Given the description of an element on the screen output the (x, y) to click on. 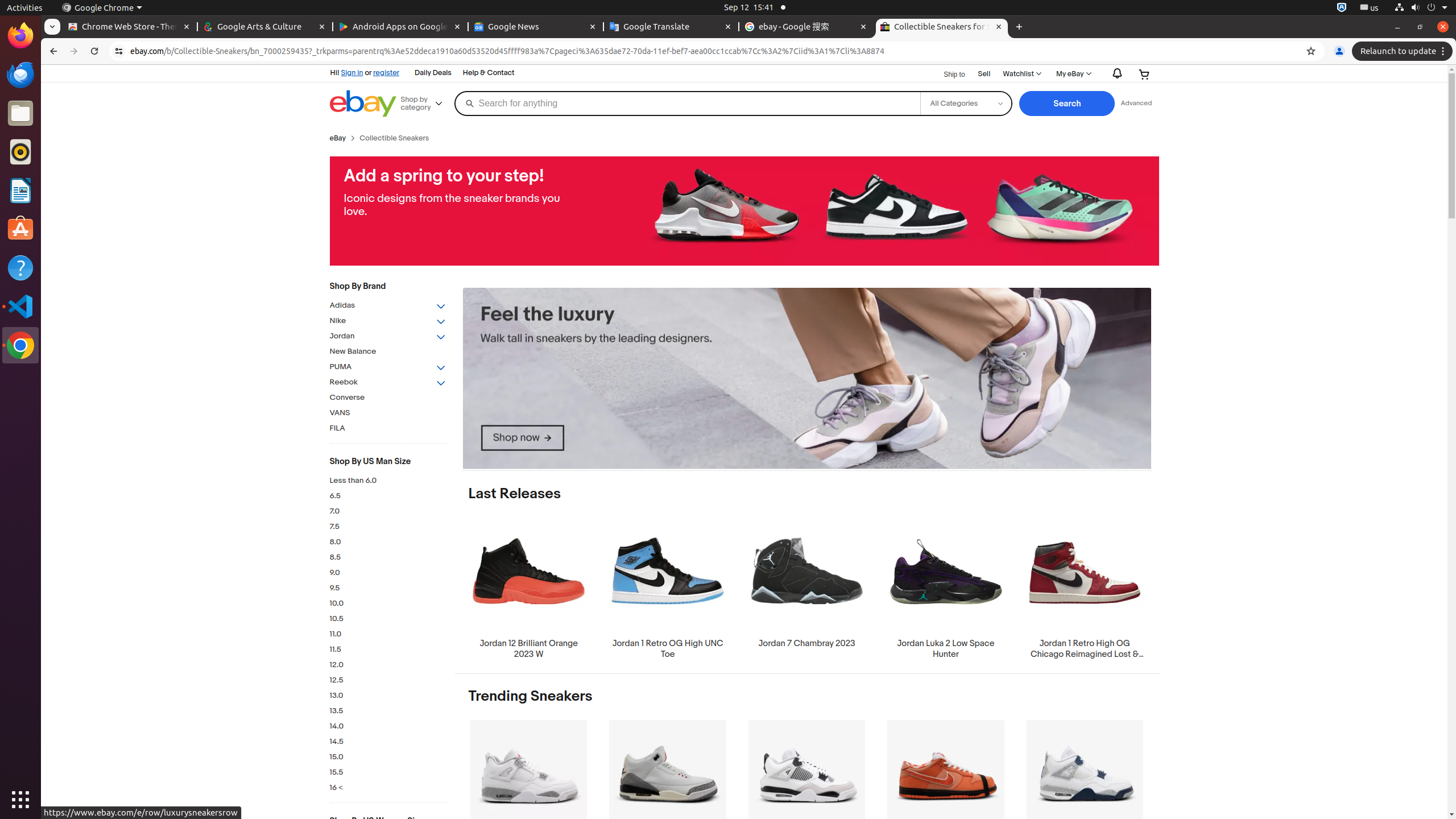
15.5 Element type: link (387, 772)
Nike Element type: push-button (387, 320)
FILA Element type: link (387, 428)
Forward Element type: push-button (73, 50)
Google Chrome Element type: push-button (20, 344)
